Given the description of an element on the screen output the (x, y) to click on. 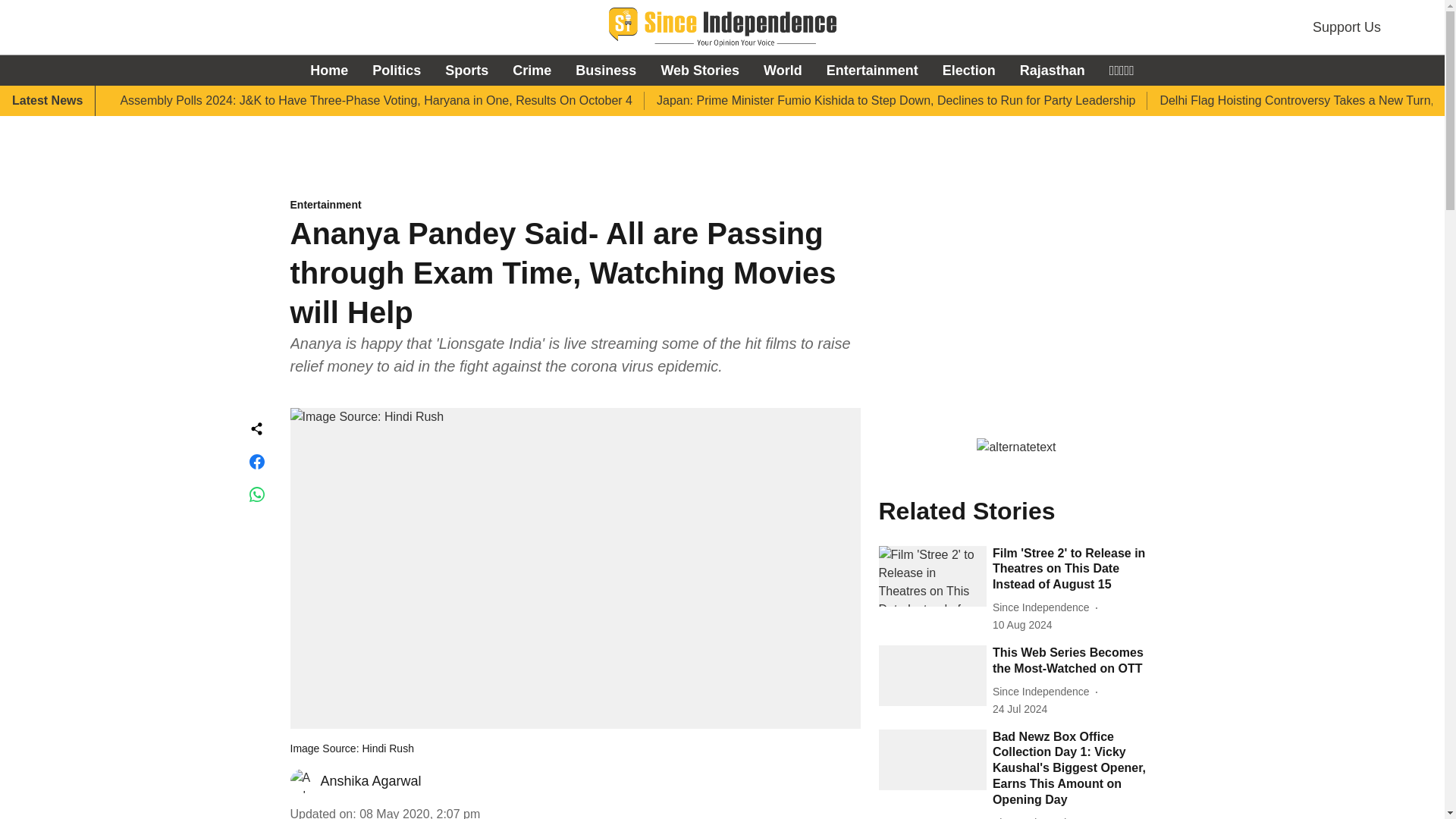
Advertisement (721, 140)
Entertainment (574, 205)
2024-08-10 14:18 (1022, 625)
2024-07-24 14:38 (1019, 709)
Web Stories (700, 70)
Rajasthan (1052, 70)
Anshika Agarwal (370, 780)
Entertainment (872, 70)
Politics (396, 70)
